Given the description of an element on the screen output the (x, y) to click on. 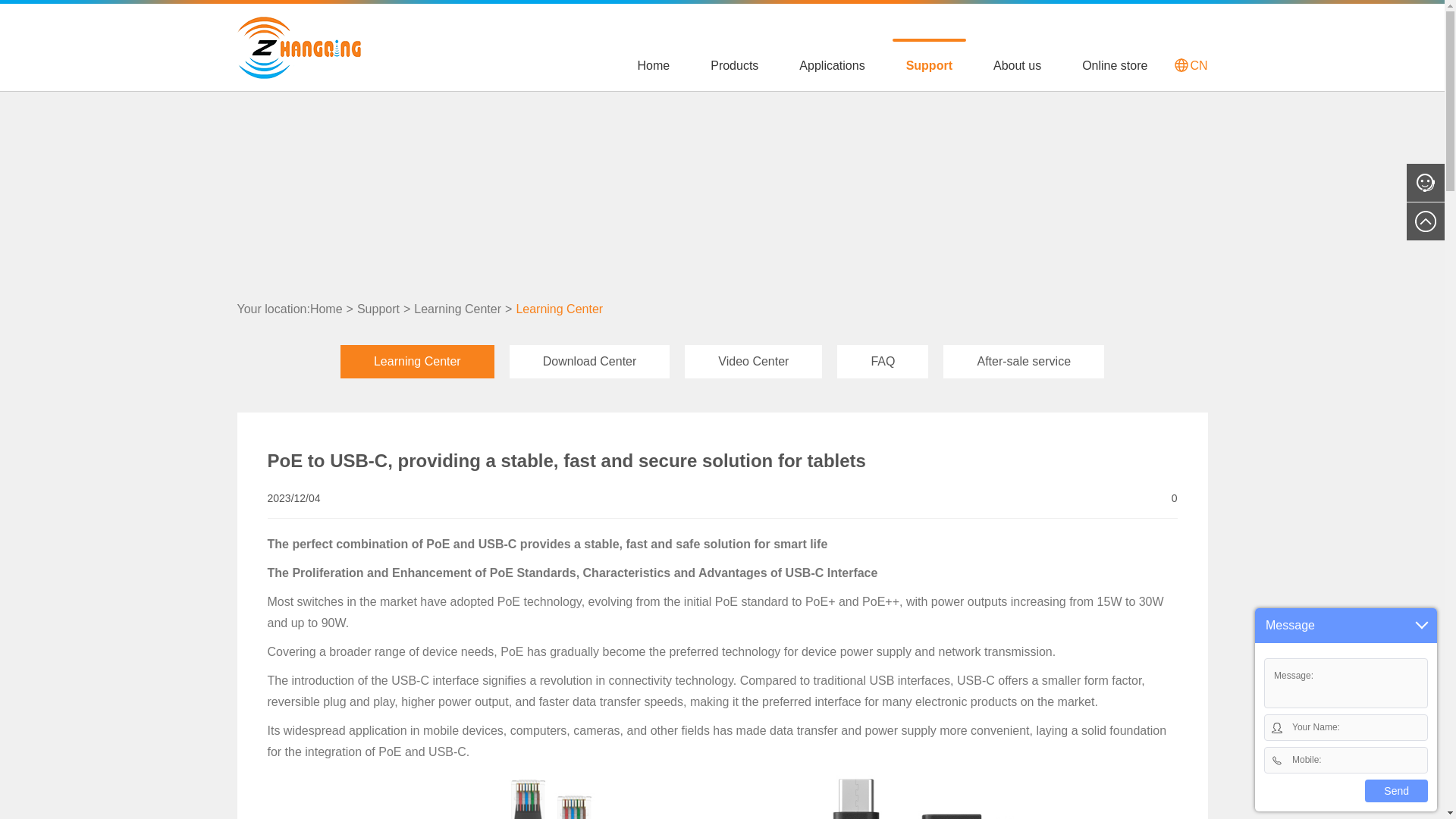
Online store (1114, 63)
Home (654, 63)
Applications (831, 63)
Shenzhen Zhangqing Electronics Co., Ltd (297, 45)
FAQ (882, 361)
Learning Center (558, 309)
Video Center (753, 361)
Support (929, 63)
CN (1190, 63)
About us (1016, 63)
Download Center (589, 361)
Learning Center (456, 309)
After-sale service (1023, 361)
Learning Center (417, 361)
Online store (1114, 63)
